Given the description of an element on the screen output the (x, y) to click on. 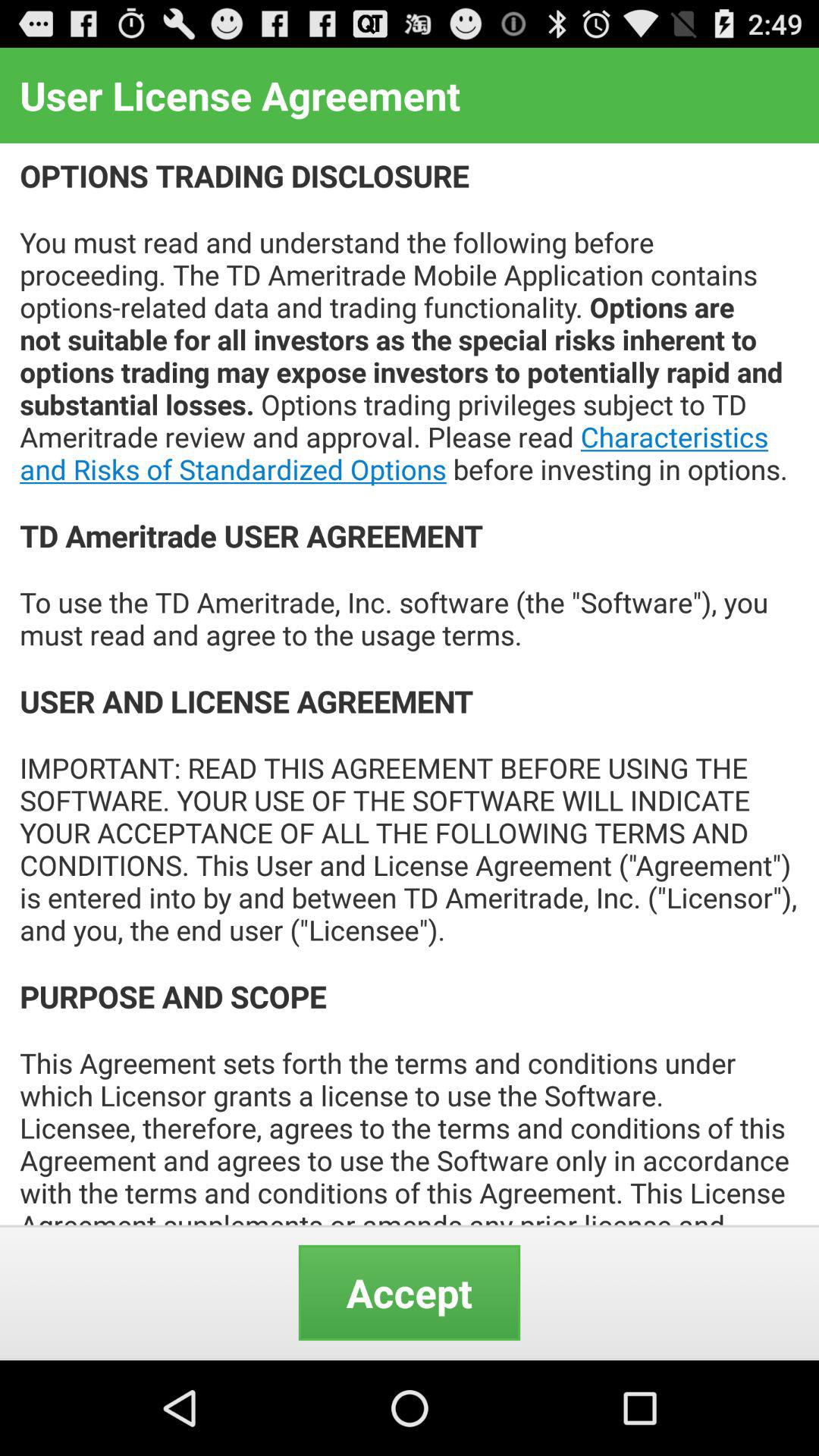
turn off options trading disclosure (409, 684)
